Given the description of an element on the screen output the (x, y) to click on. 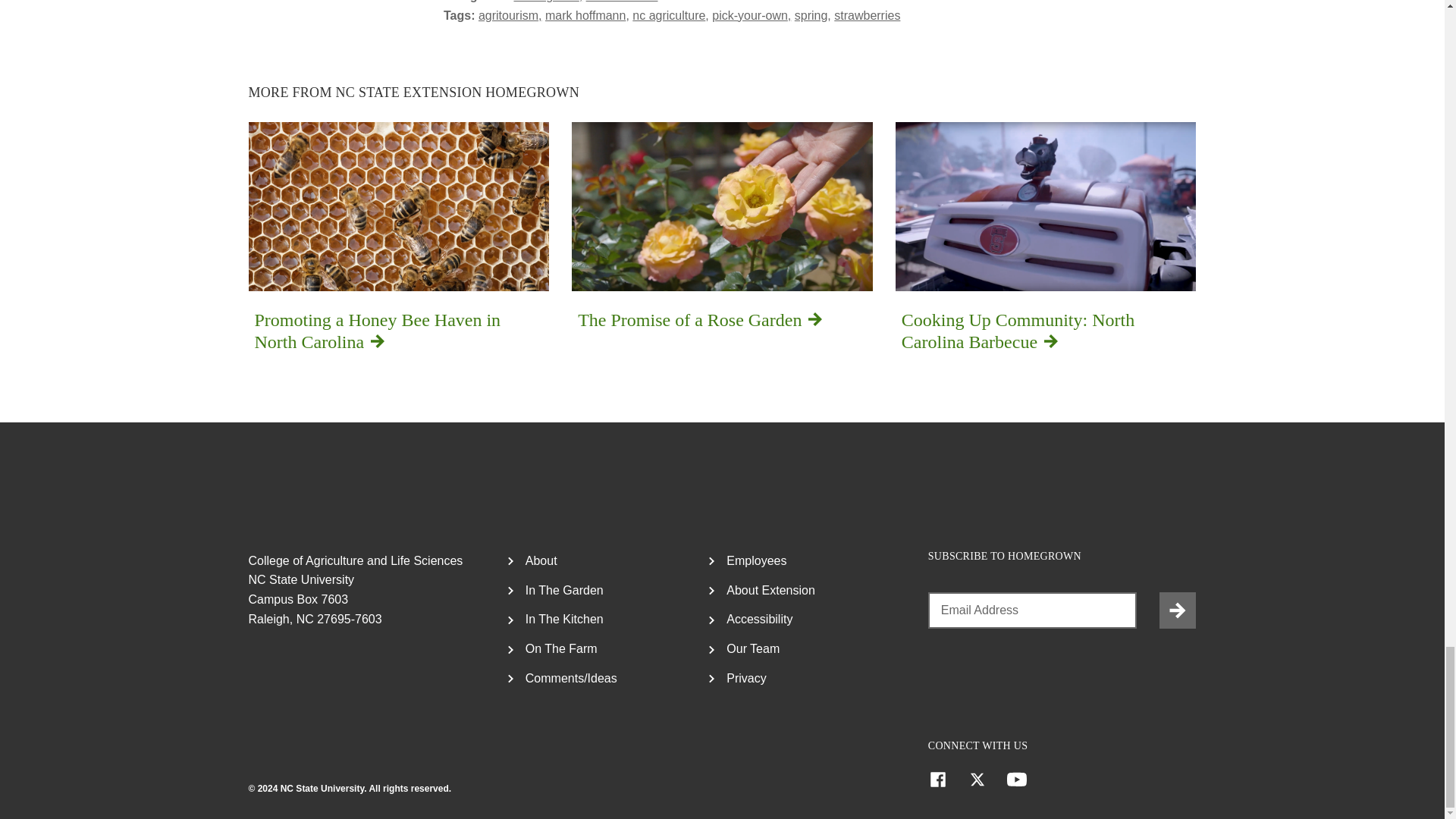
X (977, 779)
strawberries (866, 15)
mark hoffmann (586, 15)
YouTube (1016, 779)
spring (812, 15)
nc agriculture (670, 15)
Homegrown (547, 1)
On The Farm (622, 1)
pick-your-own (397, 241)
agritourism (750, 15)
Facebook (510, 15)
